Given the description of an element on the screen output the (x, y) to click on. 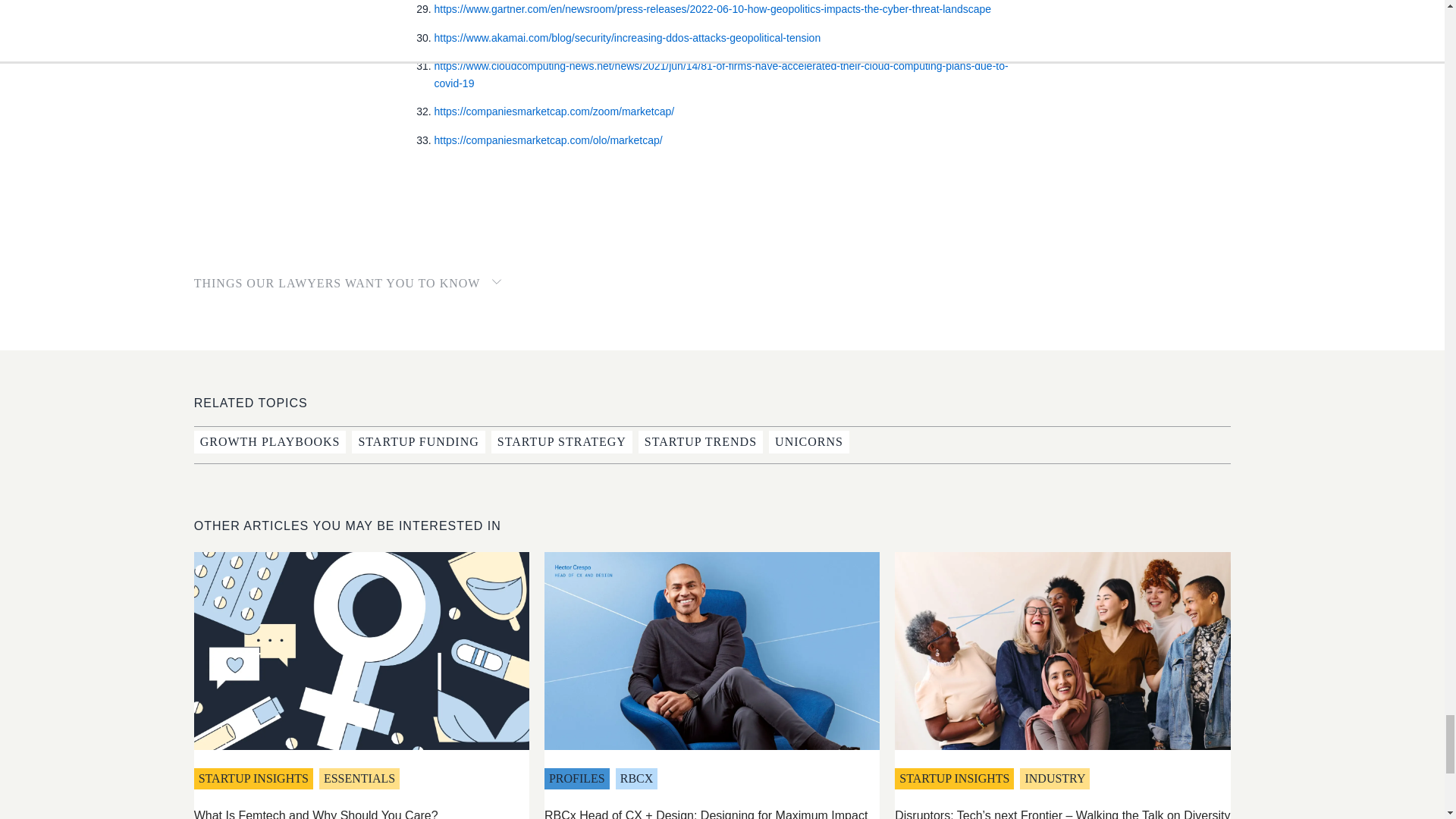
Enlarge photo (1062, 650)
Enlarge photo (711, 650)
Enlarge photo (361, 650)
